Given the description of an element on the screen output the (x, y) to click on. 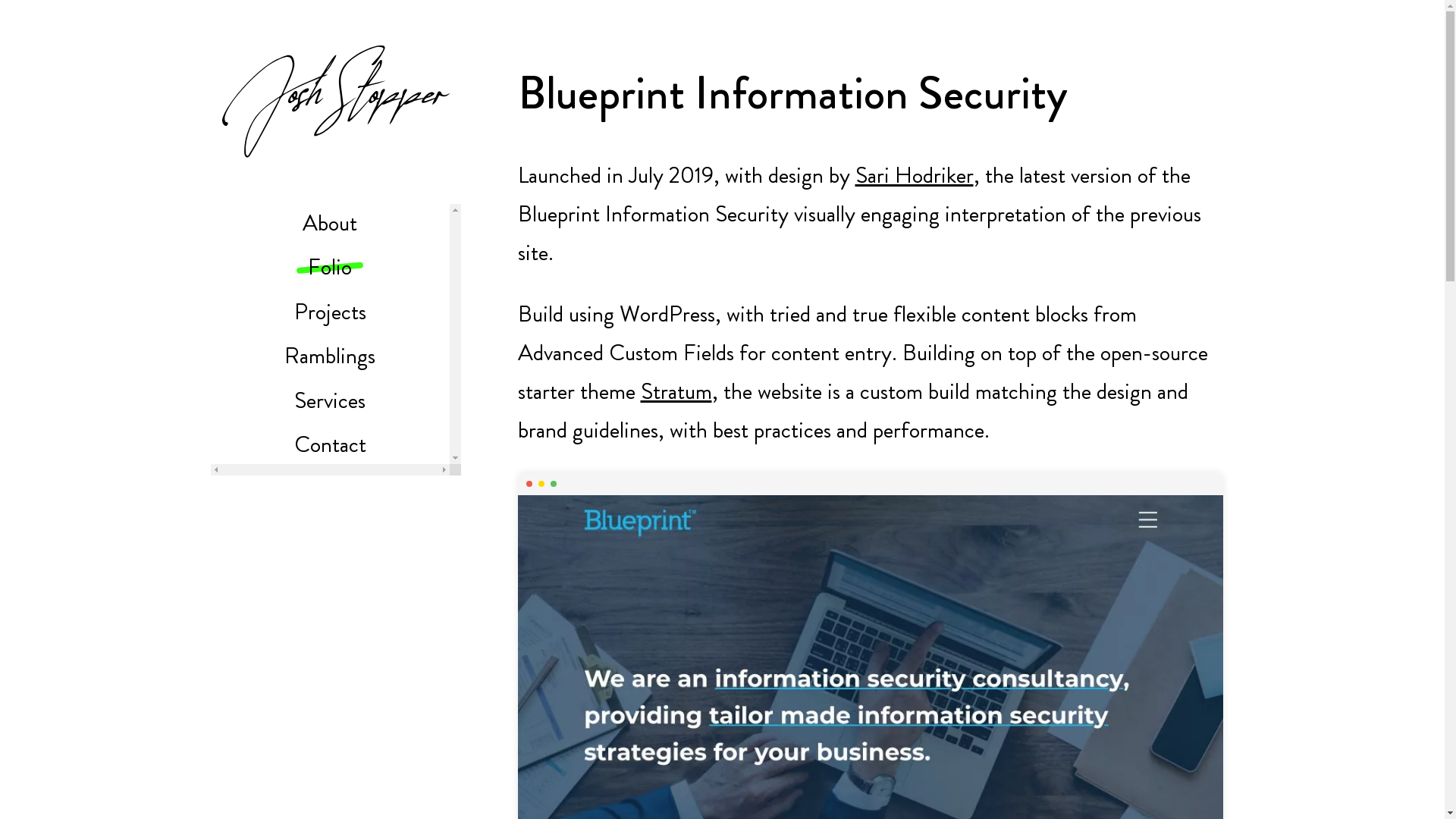
Services Element type: text (329, 400)
Skip to content Element type: text (221, 67)
Contact Element type: text (330, 444)
Stratum Element type: text (675, 391)
Sari Hodriker Element type: text (914, 175)
About Element type: text (329, 222)
Ramblings Element type: text (329, 355)
Projects Element type: text (330, 311)
Josh Stopper Element type: text (334, 107)
Folio Element type: text (329, 266)
